Given the description of an element on the screen output the (x, y) to click on. 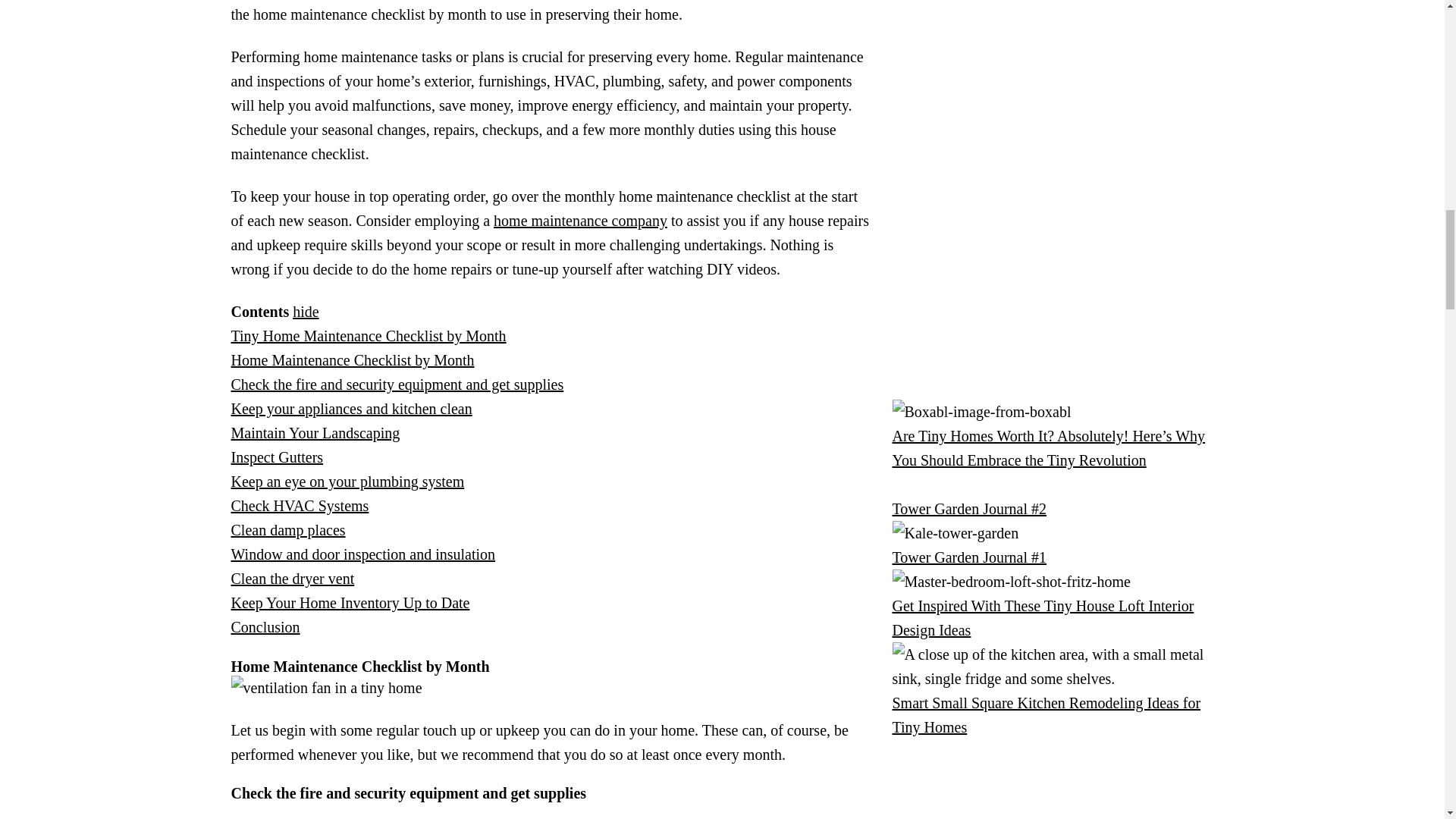
Inspect Gutters (276, 457)
Maintain Your Landscaping (314, 433)
Home Maintenance Checklist by Month (352, 360)
hide (305, 311)
Check the fire and security equipment and get supplies (396, 384)
Clean damp places (287, 529)
Keep an eye on your plumbing system (347, 481)
Check HVAC Systems (299, 505)
Keep your appliances and kitchen clean (350, 408)
home maintenance company (579, 220)
